Given the description of an element on the screen output the (x, y) to click on. 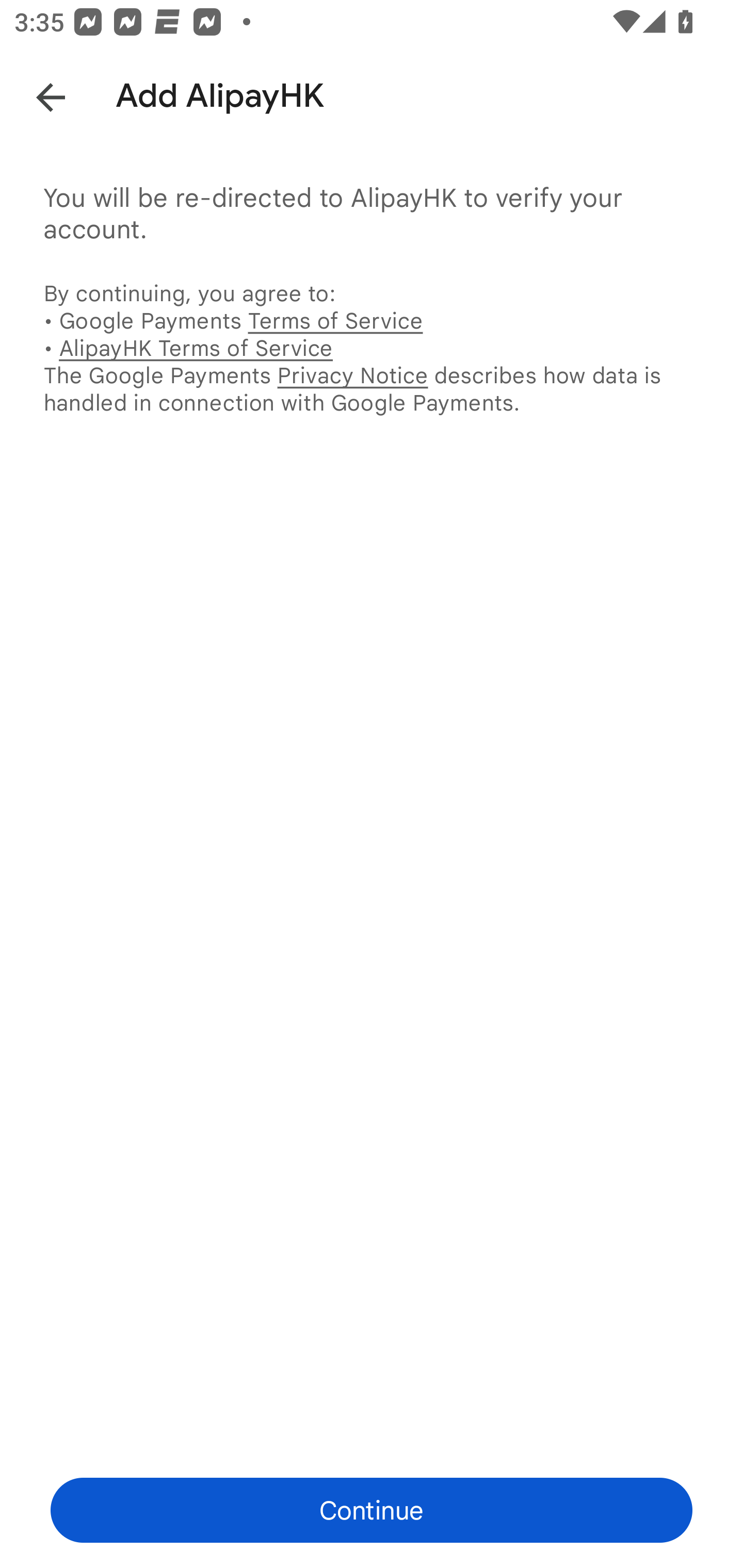
Back (36, 94)
Terms of Service (334, 320)
AlipayHK Terms of Service (195, 347)
Privacy Notice (352, 375)
Continue (371, 1510)
